Given the description of an element on the screen output the (x, y) to click on. 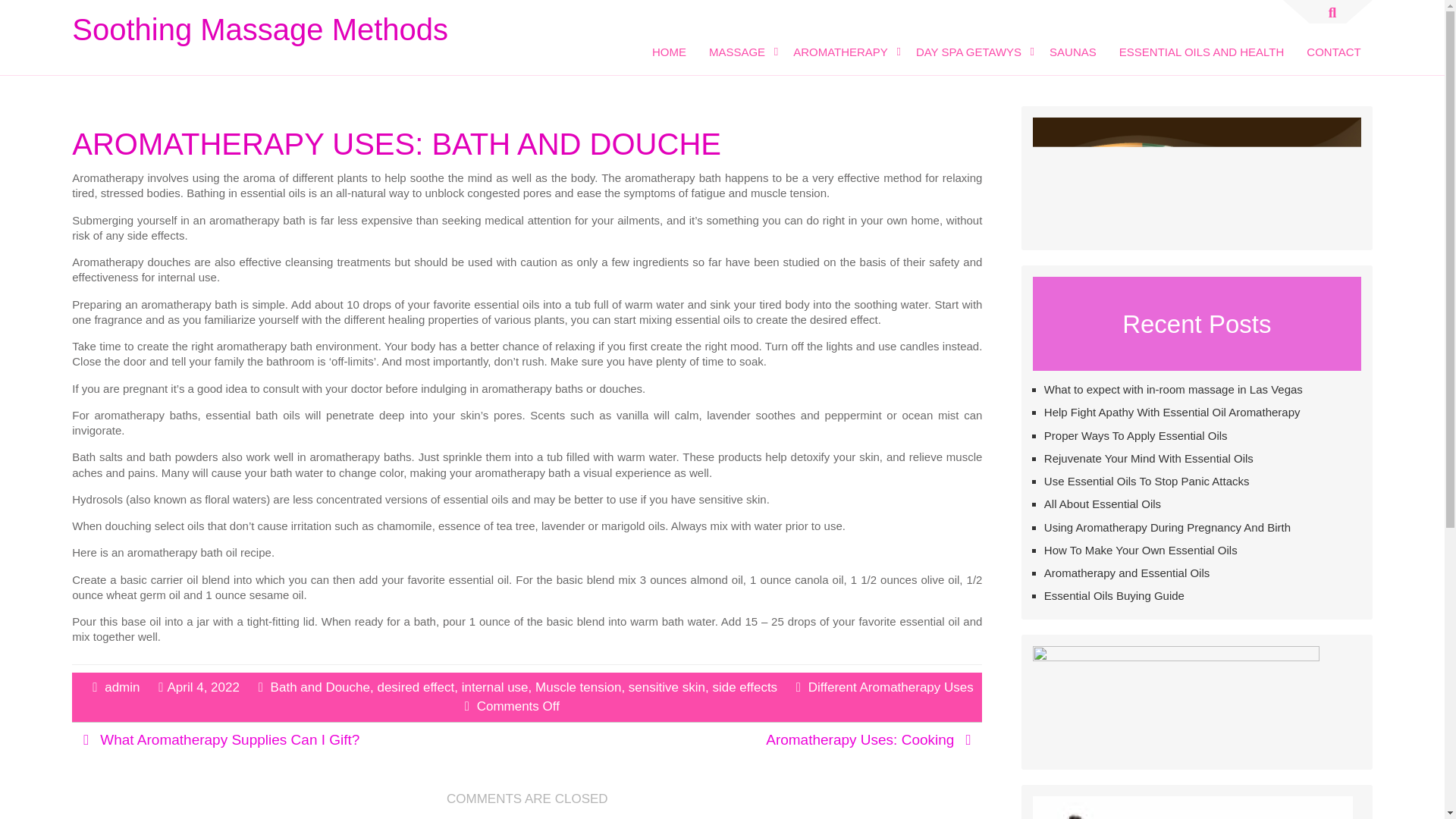
MASSAGE (739, 41)
Proper Ways To Apply Essential Oils (1135, 435)
desired effect (415, 686)
ESSENTIAL OILS AND HEALTH (1202, 41)
What Aromatherapy Supplies Can I Gift? (229, 738)
side effects (744, 686)
Muscle tension (578, 686)
AROMATHERAPY (843, 41)
Use Essential Oils To Stop Panic Attacks (1146, 481)
admin (121, 686)
All About Essential Oils (1101, 503)
Bath and Douche (319, 686)
CONTACT (1333, 41)
HOME (669, 41)
Aromatherapy Uses: Cooking (859, 738)
